Given the description of an element on the screen output the (x, y) to click on. 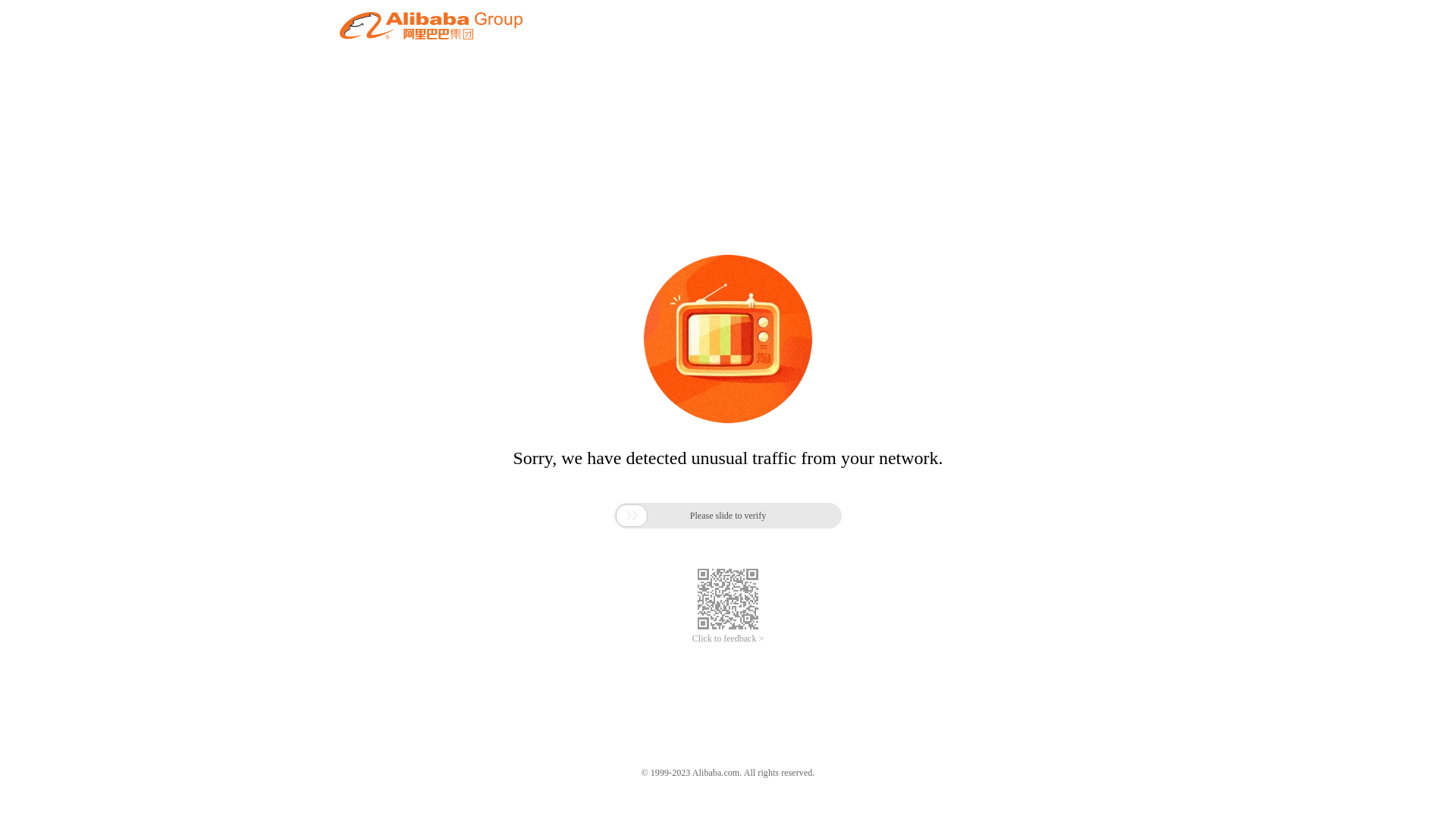
Click to feedback > Element type: text (727, 638)
